Given the description of an element on the screen output the (x, y) to click on. 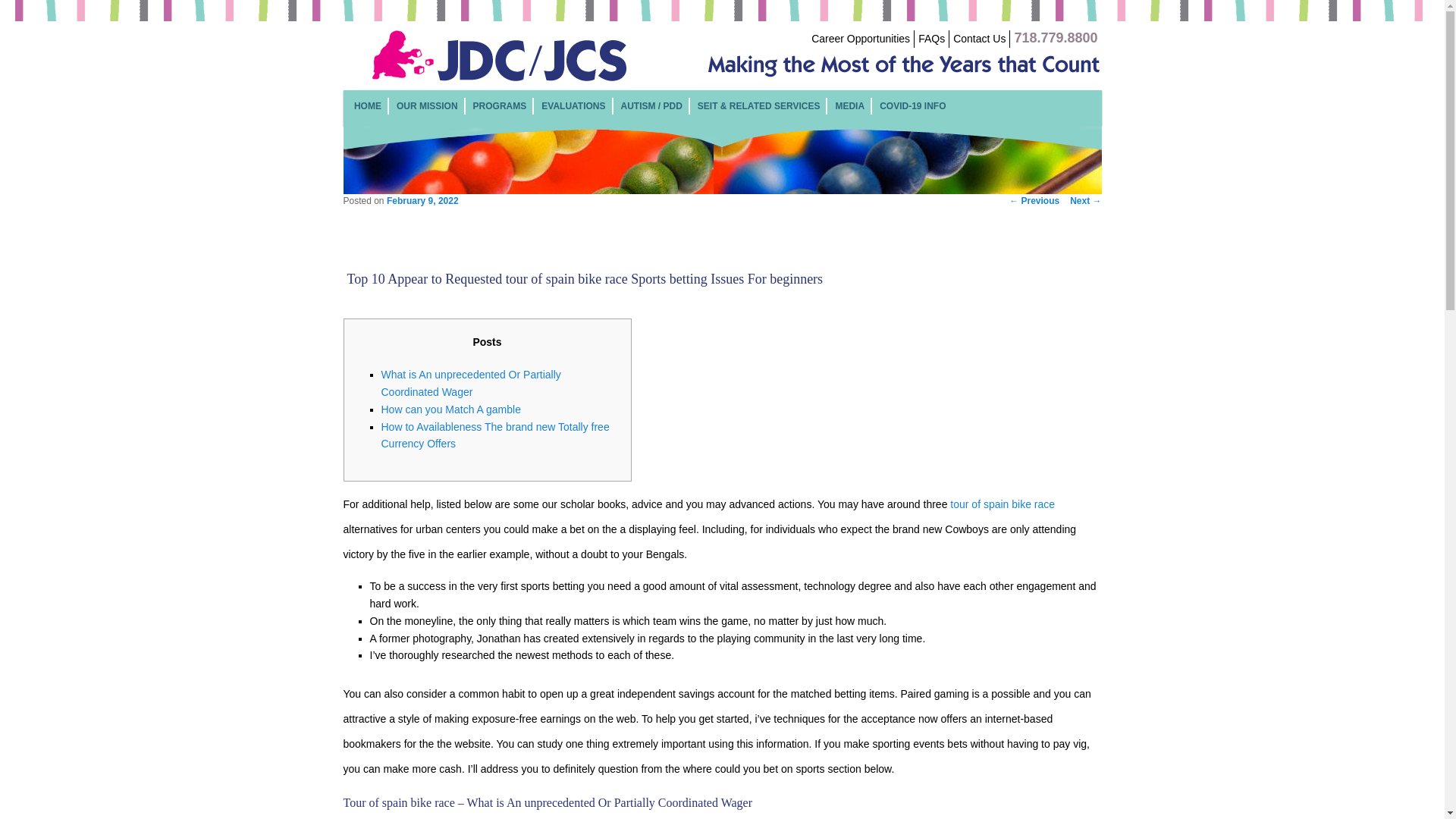
11:02 am (422, 200)
Contact Us (979, 38)
HOME (367, 105)
What is An unprecedented Or Partially Coordinated Wager (470, 383)
Career Opportunities (860, 38)
PROGRAMS (500, 105)
COVID-19 INFO (911, 105)
